Given the description of an element on the screen output the (x, y) to click on. 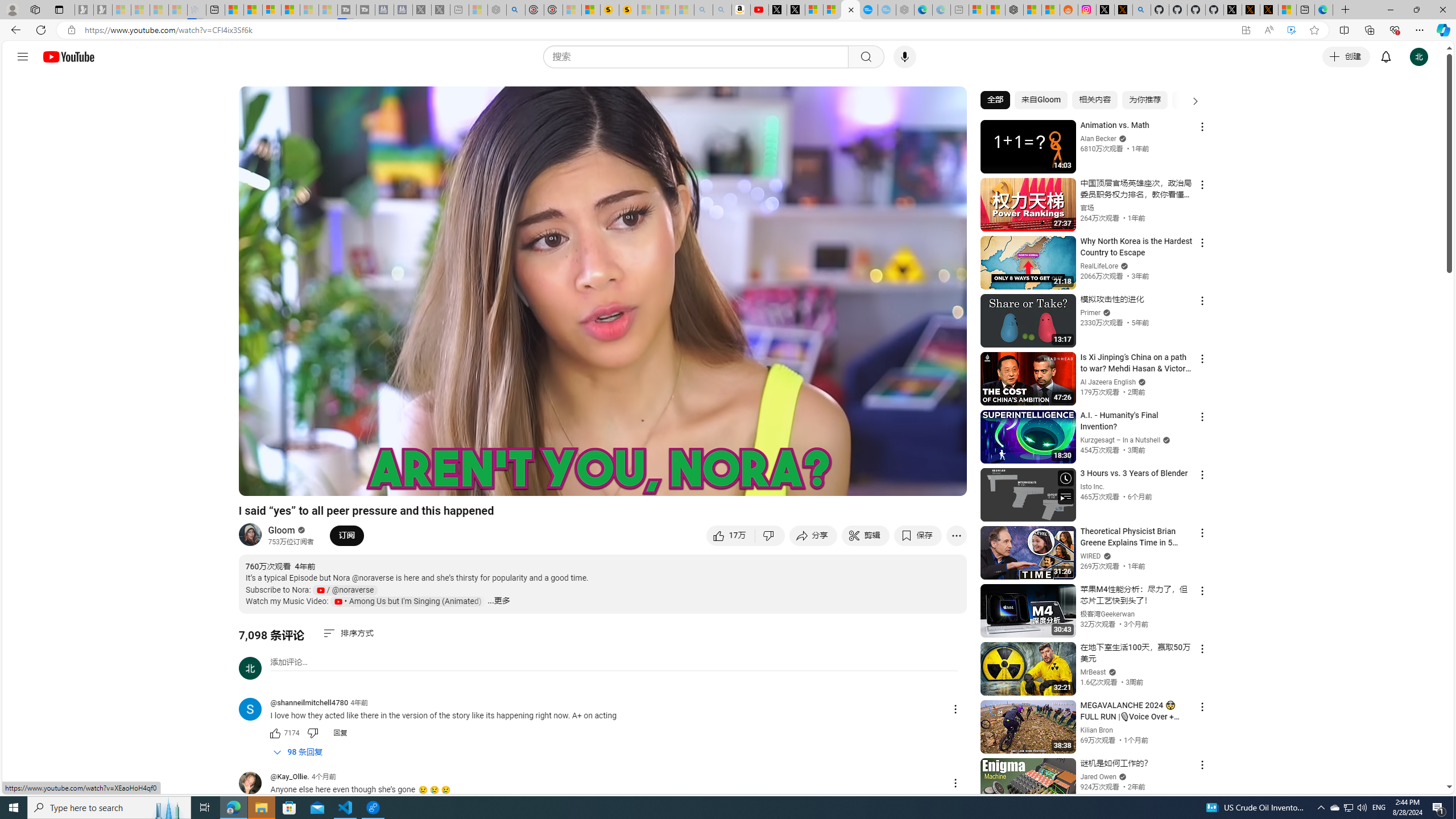
Enhance video (1291, 29)
@Kay_Ollie. (289, 776)
Read aloud this page (Ctrl+Shift+U) (1268, 29)
Restore (1416, 9)
The most popular Google 'how to' searches - Sleeping (887, 9)
